Given the description of an element on the screen output the (x, y) to click on. 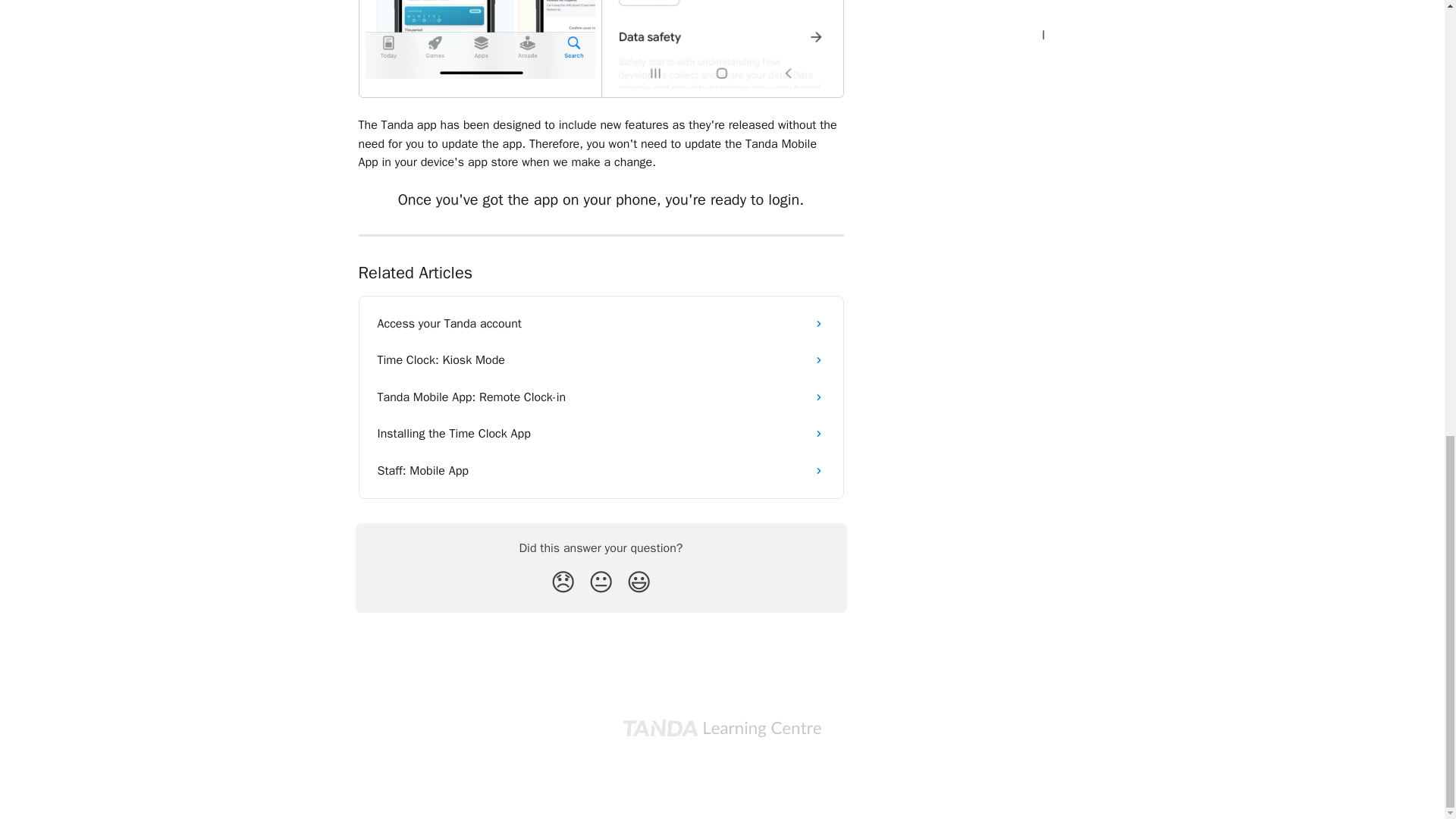
Time Clock: Kiosk Mode (601, 360)
Staff: Mobile App (601, 470)
Tanda Mobile App: Remote Clock-in (601, 397)
Installing the Time Clock App (601, 433)
Access your Tanda account (601, 323)
